Given the description of an element on the screen output the (x, y) to click on. 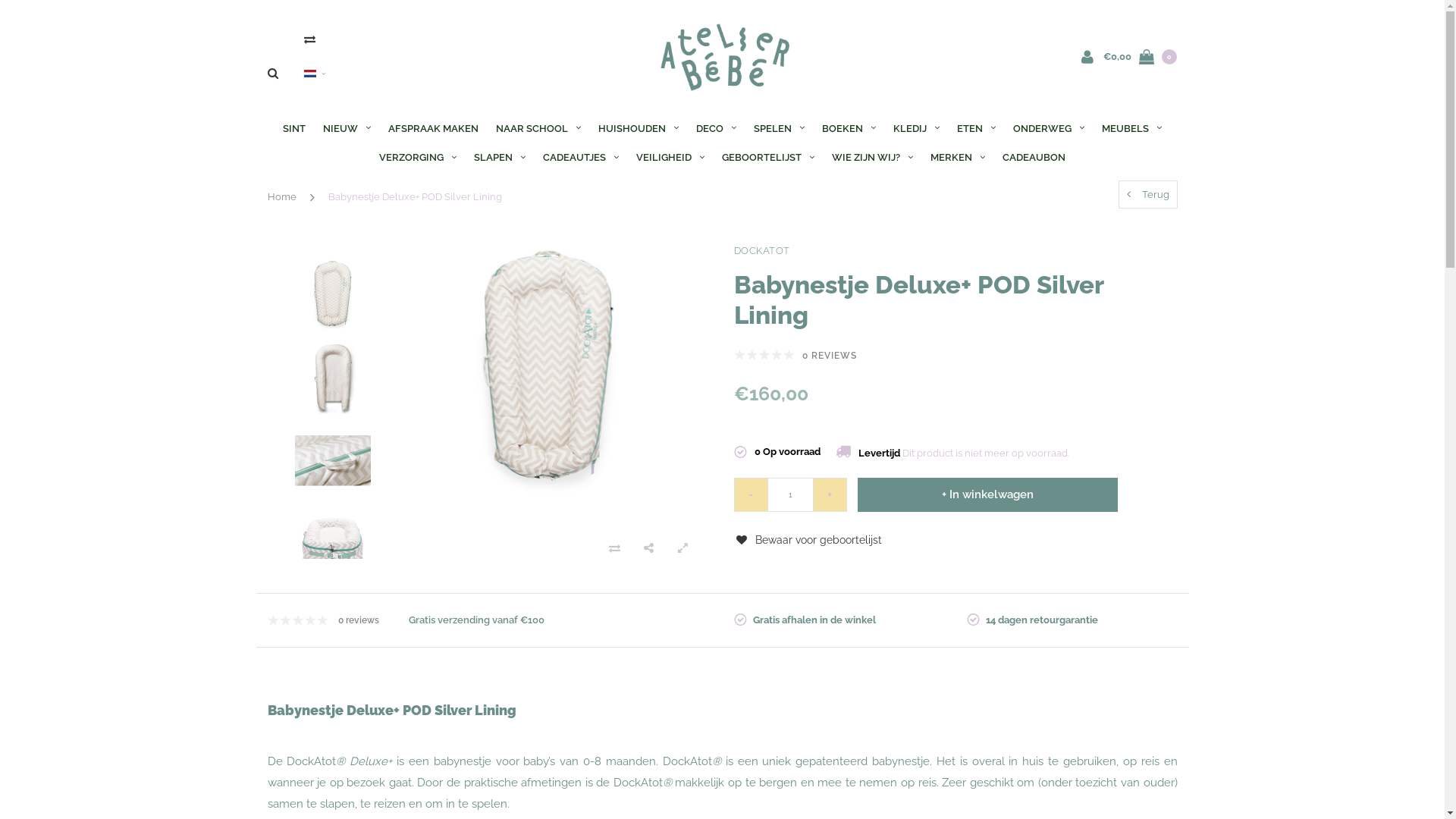
DOCKATOT Element type: text (950, 251)
Vergelijk Element type: hover (308, 39)
VERZORGING Element type: text (417, 157)
Terug Element type: text (1146, 194)
AFSPRAAK MAKEN Element type: text (433, 129)
CADEAUBON Element type: text (1033, 157)
CADEAUTJES Element type: text (580, 157)
BOEKEN Element type: text (848, 129)
KLEDIJ Element type: text (916, 129)
+ Element type: text (829, 494)
- Element type: text (751, 494)
MEUBELS Element type: text (1131, 129)
GEBOORTELIJST Element type: text (768, 157)
NAAR SCHOOL Element type: text (538, 129)
NIEUW Element type: text (346, 129)
SLAPEN Element type: text (499, 157)
SPELEN Element type: text (779, 129)
VEILIGHEID Element type: text (670, 157)
ONDERWEG Element type: text (1048, 129)
SINT Element type: text (294, 129)
ETEN Element type: text (976, 129)
+ In winkelwagen Element type: text (986, 494)
MERKEN Element type: text (957, 157)
DECO Element type: text (715, 129)
Bewaar voor geboortelijst Element type: text (808, 539)
WIE ZIJN WIJ? Element type: text (872, 157)
Babynestje Deluxe+ POD Silver Lining Element type: text (414, 197)
Home Element type: text (280, 197)
HUISHOUDEN Element type: text (638, 129)
